Given the description of an element on the screen output the (x, y) to click on. 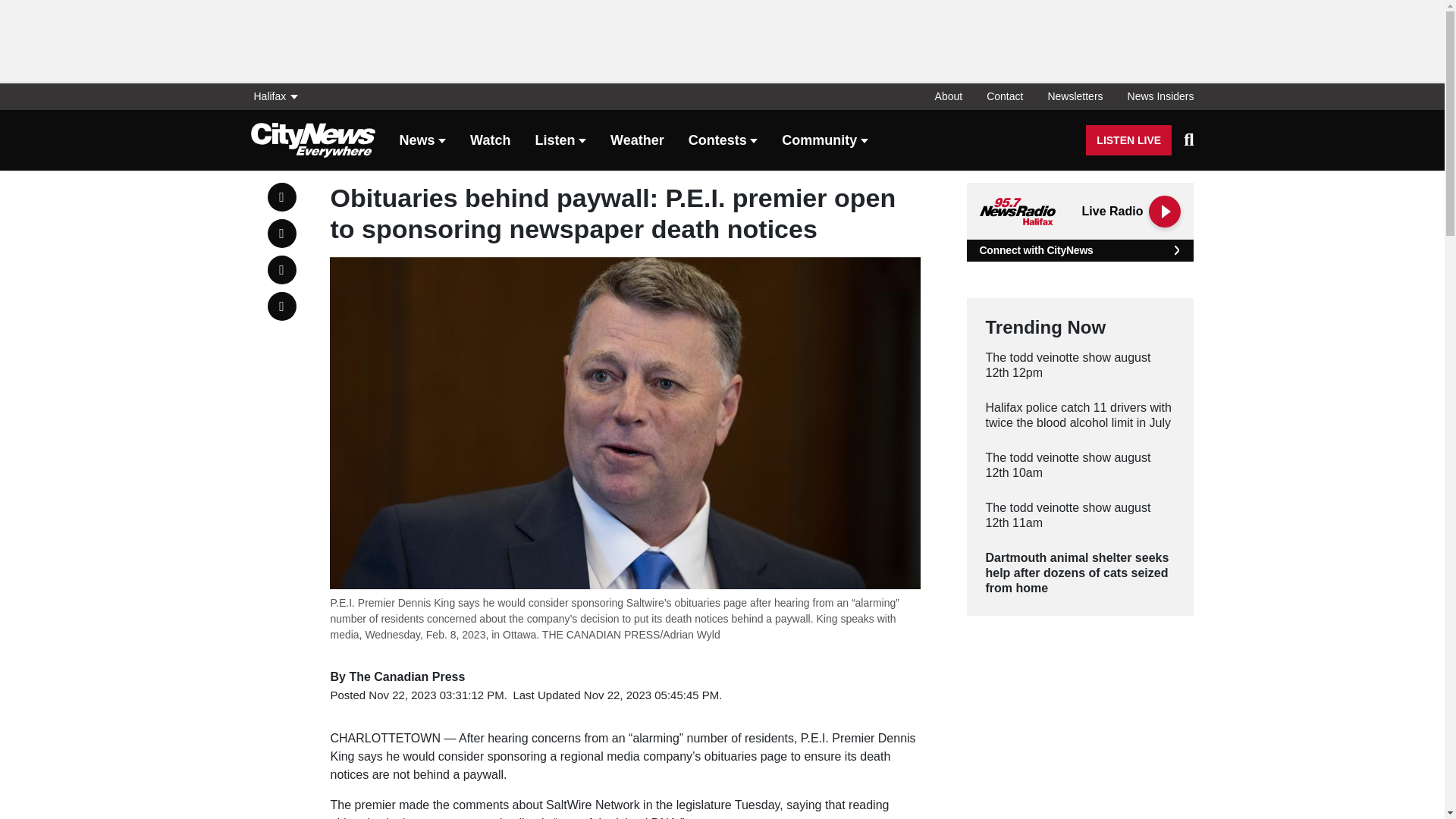
Newsletters (1075, 96)
News (421, 140)
Contact (1004, 96)
Watch (490, 140)
Weather (636, 140)
News Insiders (1154, 96)
the todd veinotte show august 12th 12pm (1079, 365)
Halifax (278, 96)
Contests (723, 140)
